Given the description of an element on the screen output the (x, y) to click on. 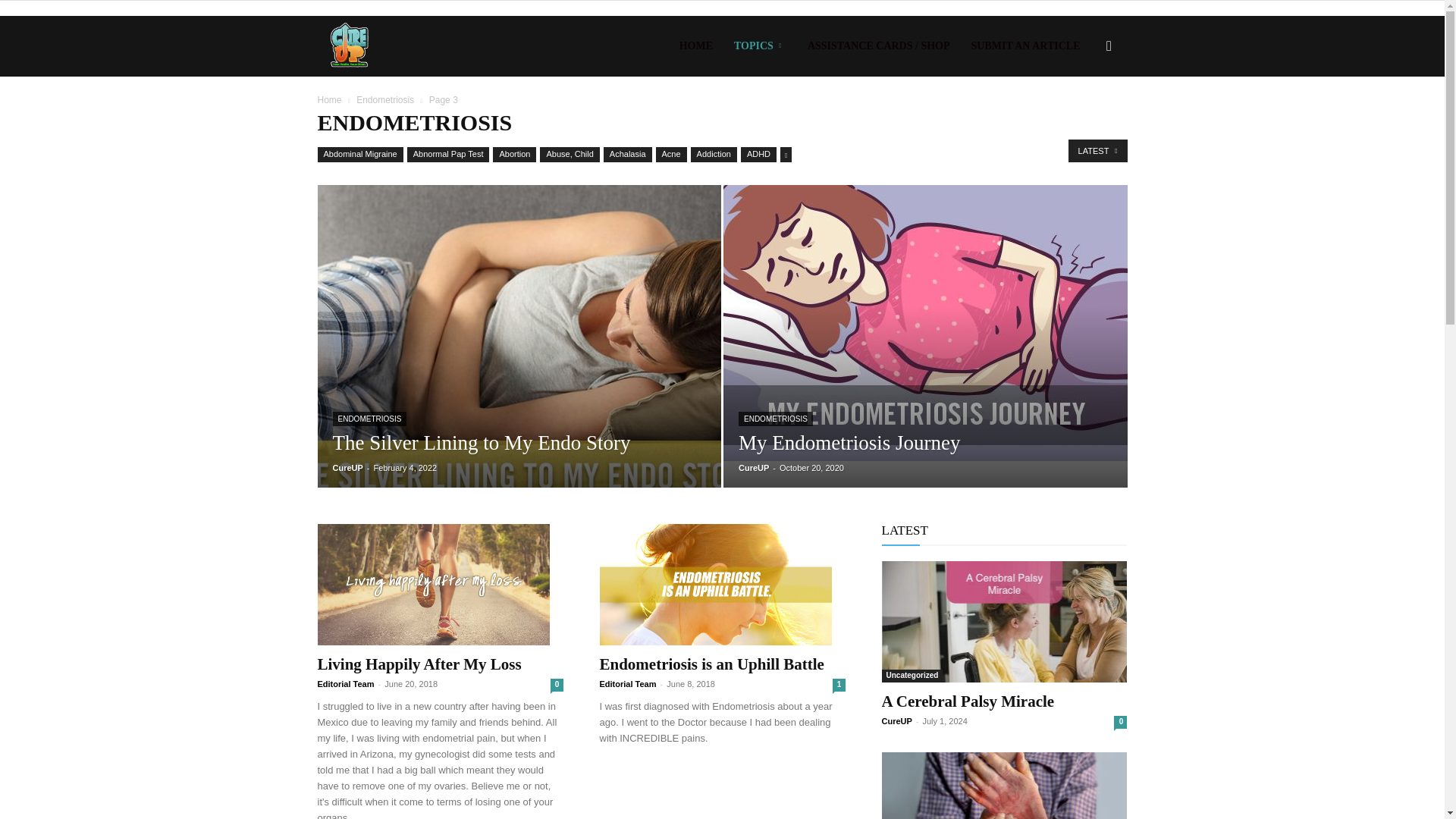
Living Happily After My Loss (439, 584)
Living Happily After My Loss (419, 664)
SUBMIT AN ARTICLE (1025, 45)
TOPICS (759, 45)
Living Happily After My Loss (432, 584)
My Endometriosis Journey (848, 442)
Home (328, 100)
My Endometriosis Journey (925, 323)
Abdominal Migraine (360, 154)
HOME (695, 45)
The Silver Lining to My Endo Story (480, 442)
CureUp (348, 46)
CureUp (348, 46)
My Endometriosis Journey (924, 323)
